Given the description of an element on the screen output the (x, y) to click on. 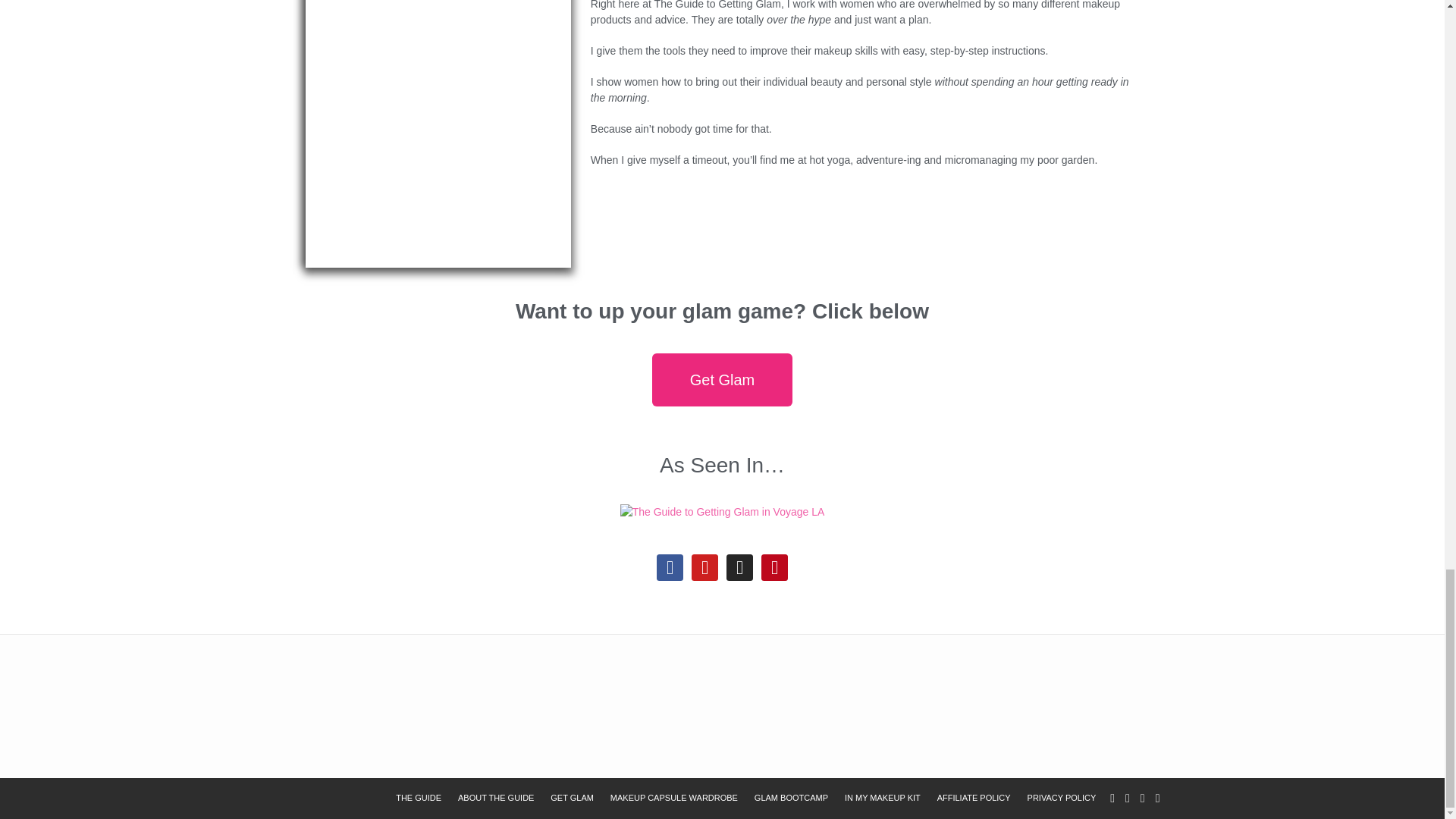
ABOUT THE GUIDE (495, 797)
GET GLAM (571, 797)
PRIVACY POLICY (1062, 797)
GLAM BOOTCAMP (790, 797)
AFFILIATE POLICY (973, 797)
Get Glam (722, 379)
THE GUIDE (418, 797)
IN MY MAKEUP KIT (883, 797)
MAKEUP CAPSULE WARDROBE (673, 797)
